Given the description of an element on the screen output the (x, y) to click on. 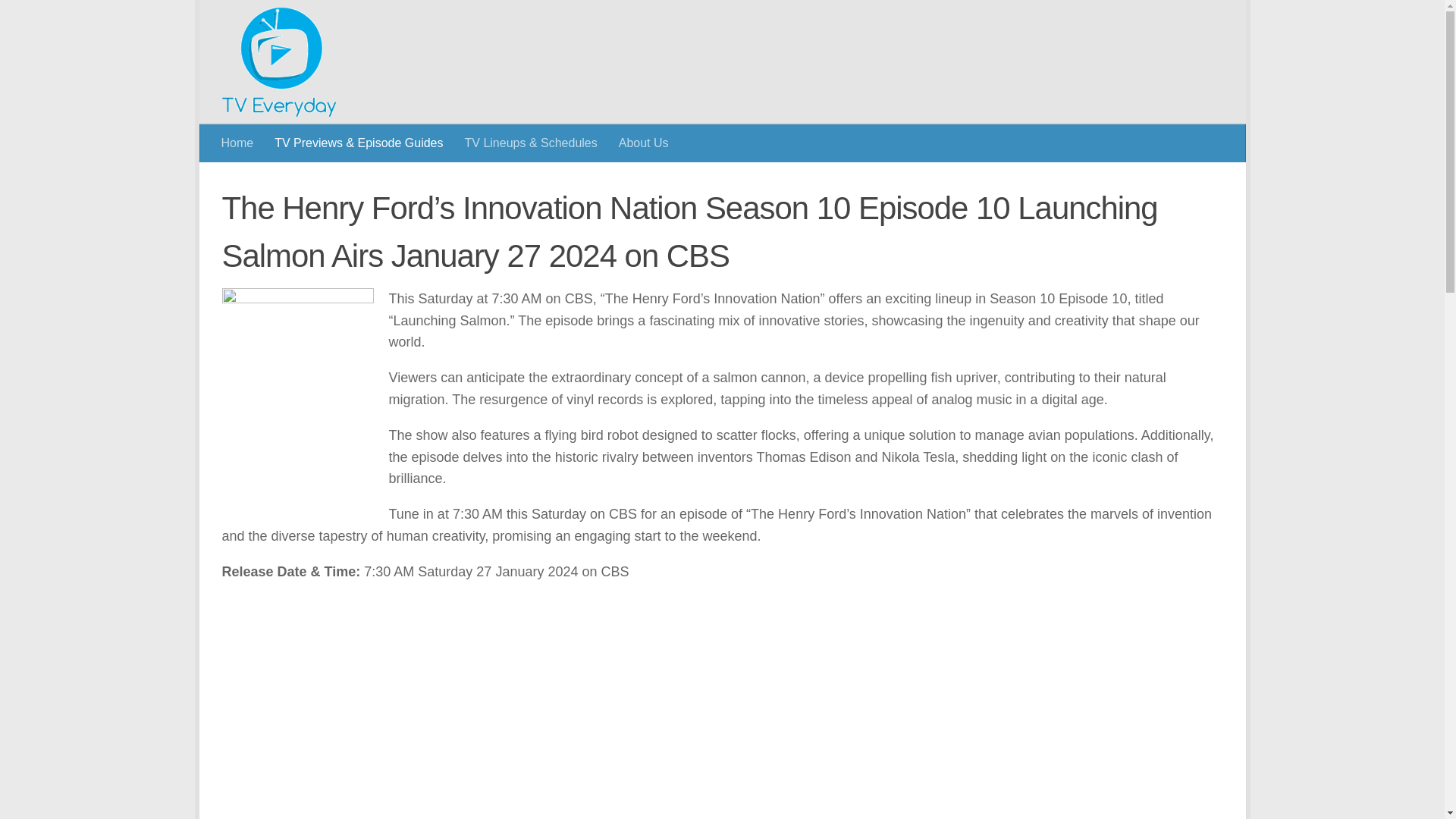
About Us (643, 143)
Home (237, 143)
Skip to content (263, 20)
Advertisement (946, 60)
